Given the description of an element on the screen output the (x, y) to click on. 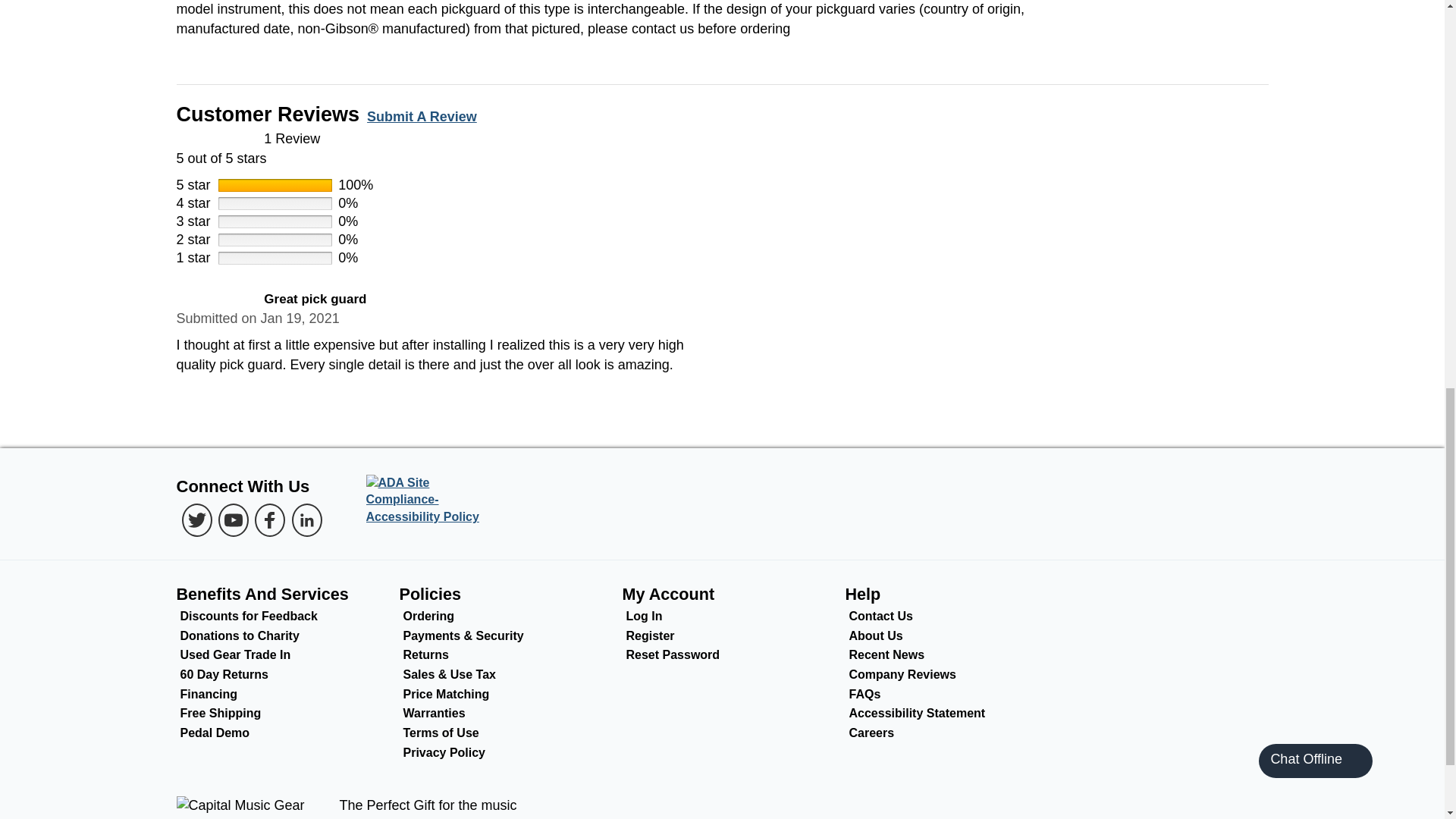
5 out of 5 (722, 148)
Our Facebook Page - Opens in new Tab (269, 520)
Our Twitter Page - Opens in new Tab (197, 520)
Our Youtube Page - Opens in new Tab (233, 520)
Our Linkedin Page - Opens in new Tab (306, 520)
5 out of 5 (216, 299)
ADA Site Compliance-Accessibility Policy - Opens in new tab (427, 501)
